Given the description of an element on the screen output the (x, y) to click on. 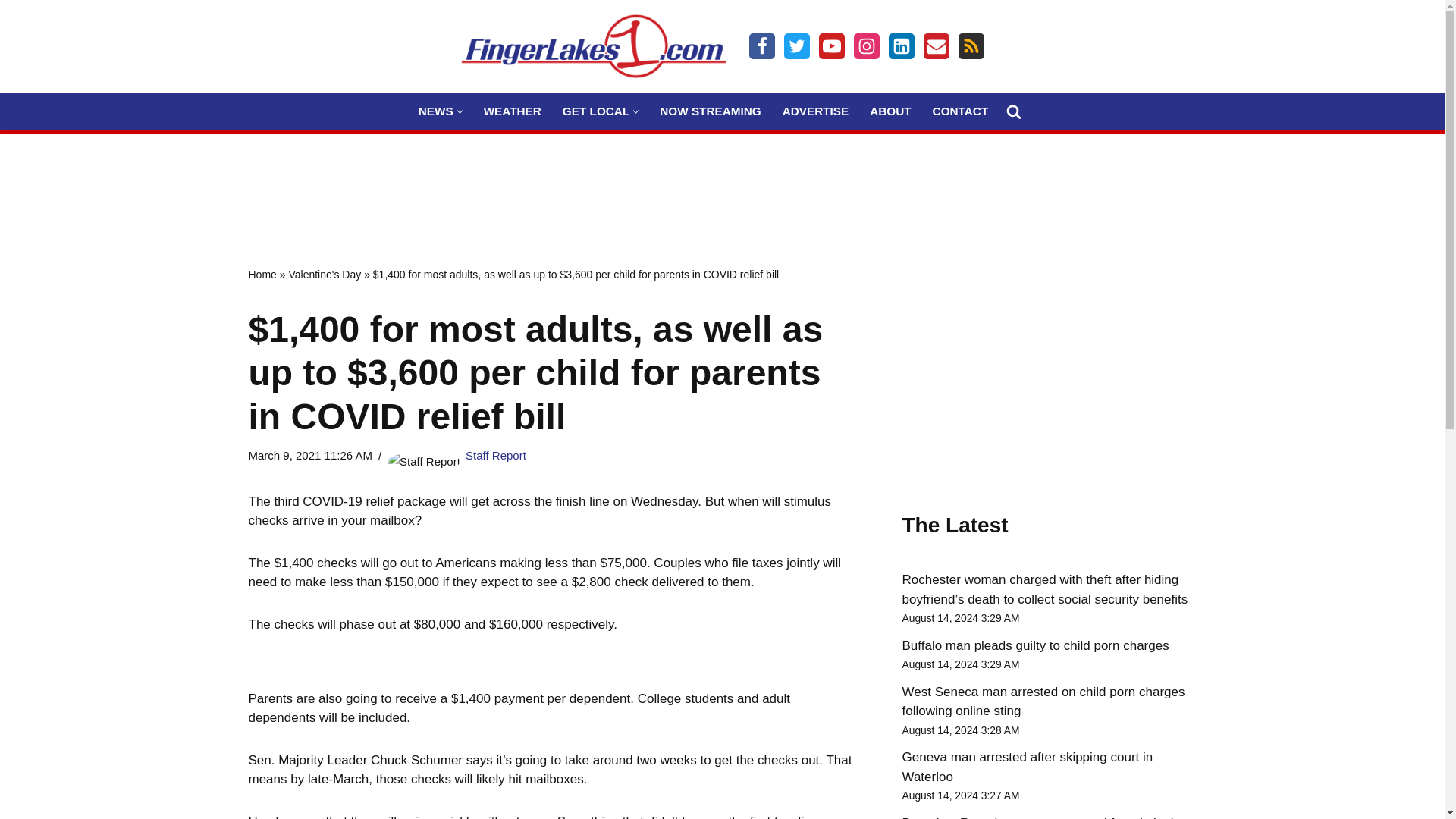
Feed (971, 45)
Posts by Staff Report (495, 454)
NEWS (435, 111)
CONTACT (960, 111)
LinkIn (901, 45)
Skip to content (11, 31)
WEATHER (512, 111)
ABOUT (890, 111)
Twitter (796, 45)
NOW STREAMING (709, 111)
